Given the description of an element on the screen output the (x, y) to click on. 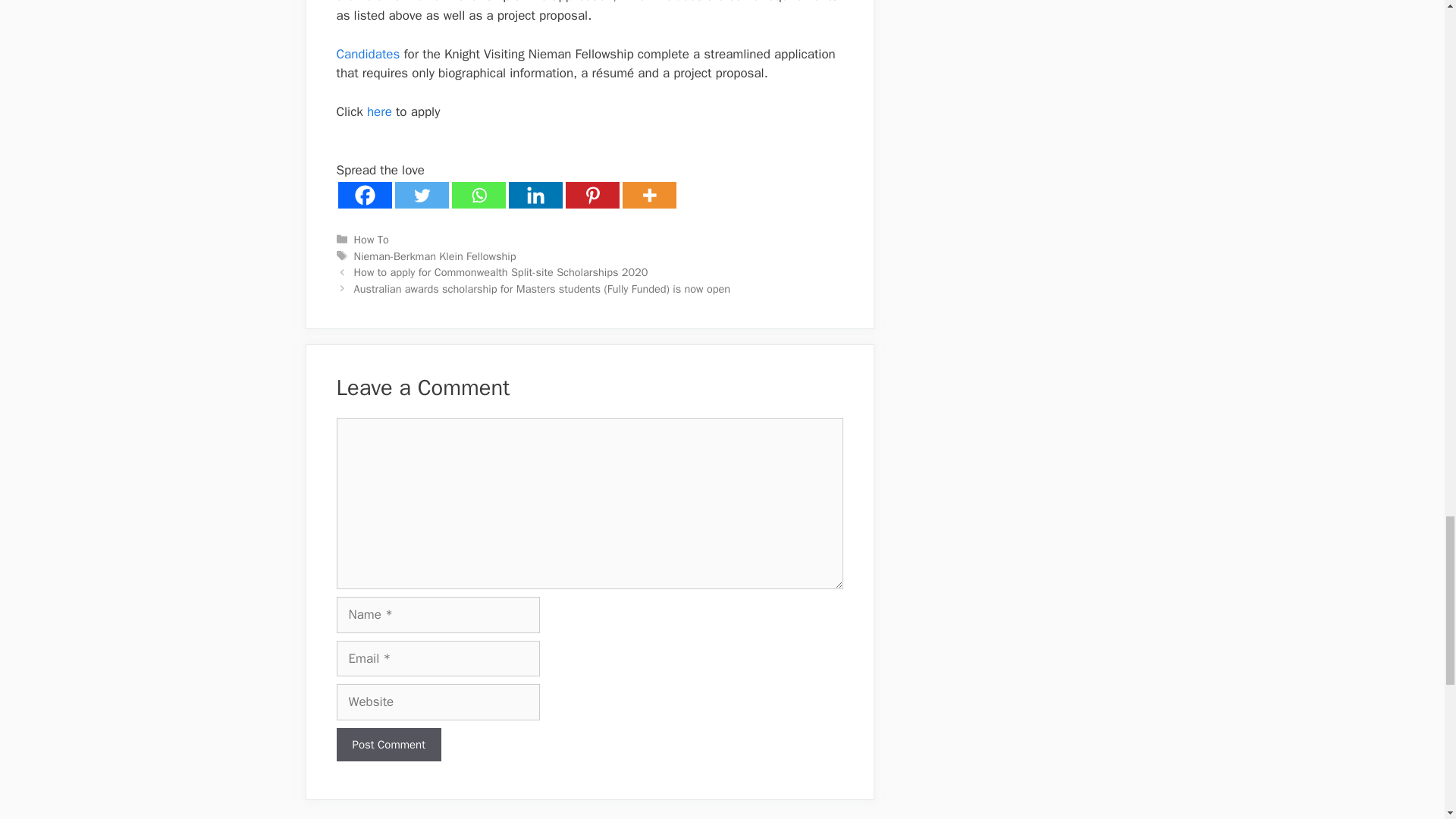
Post Comment (388, 745)
Post Comment (388, 745)
How To (370, 239)
Candidates (368, 53)
Nieman-Berkman Klein Fellowship (434, 255)
How to apply for Commonwealth Split-site Scholarships 2020 (500, 272)
here (378, 111)
